Given the description of an element on the screen output the (x, y) to click on. 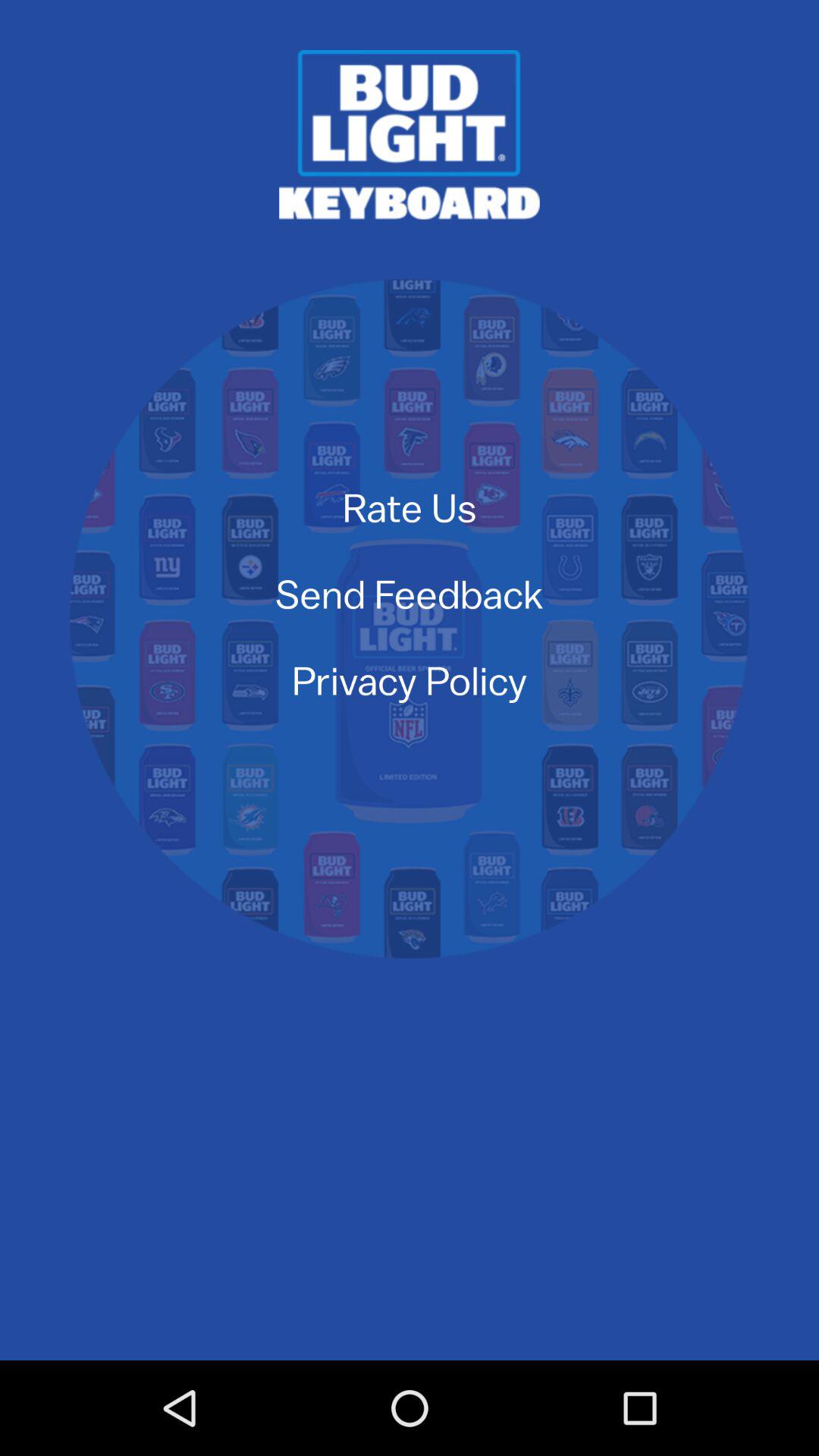
scroll until privacy policy icon (409, 679)
